Given the description of an element on the screen output the (x, y) to click on. 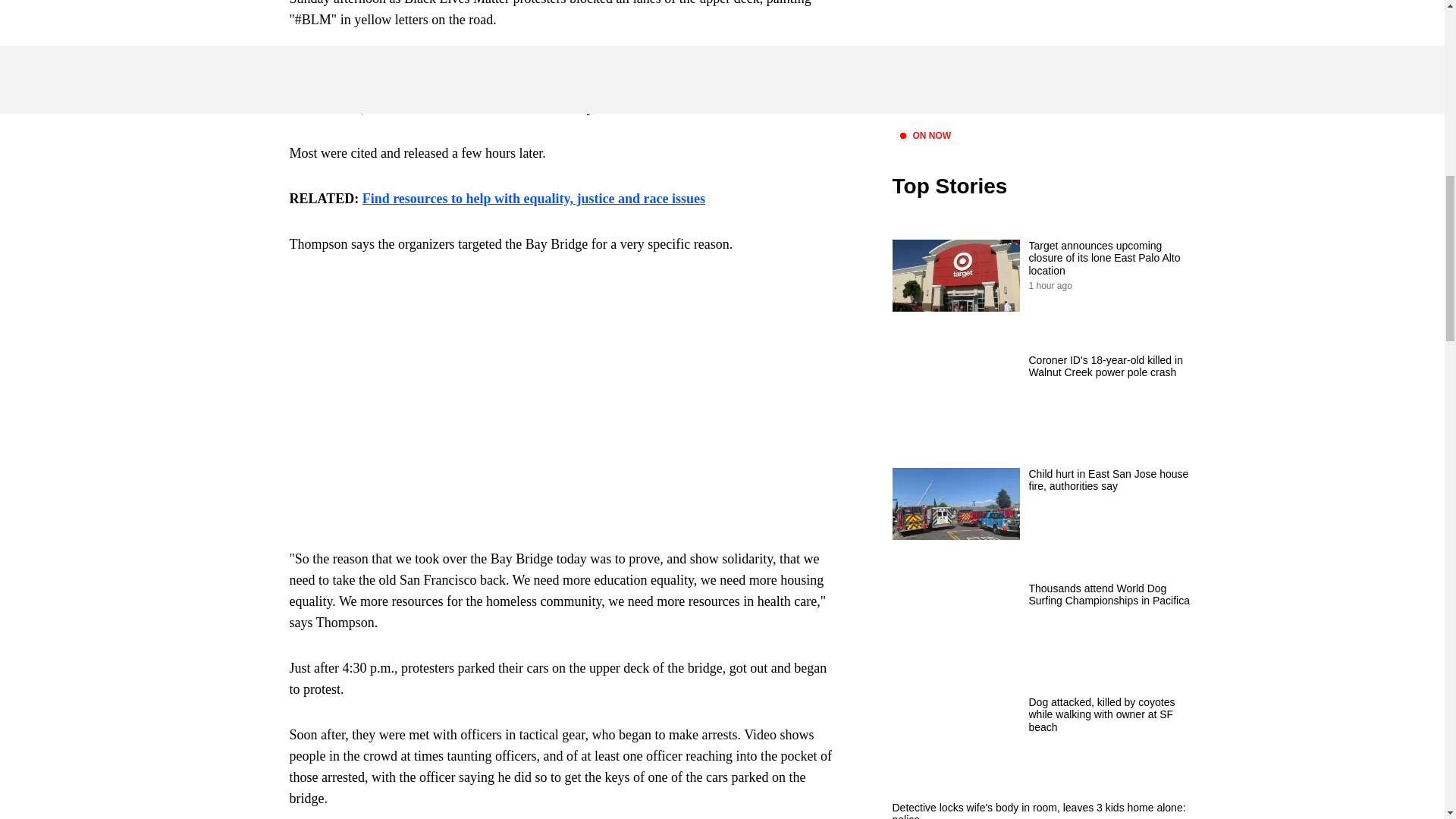
video.title (1043, 62)
